Given the description of an element on the screen output the (x, y) to click on. 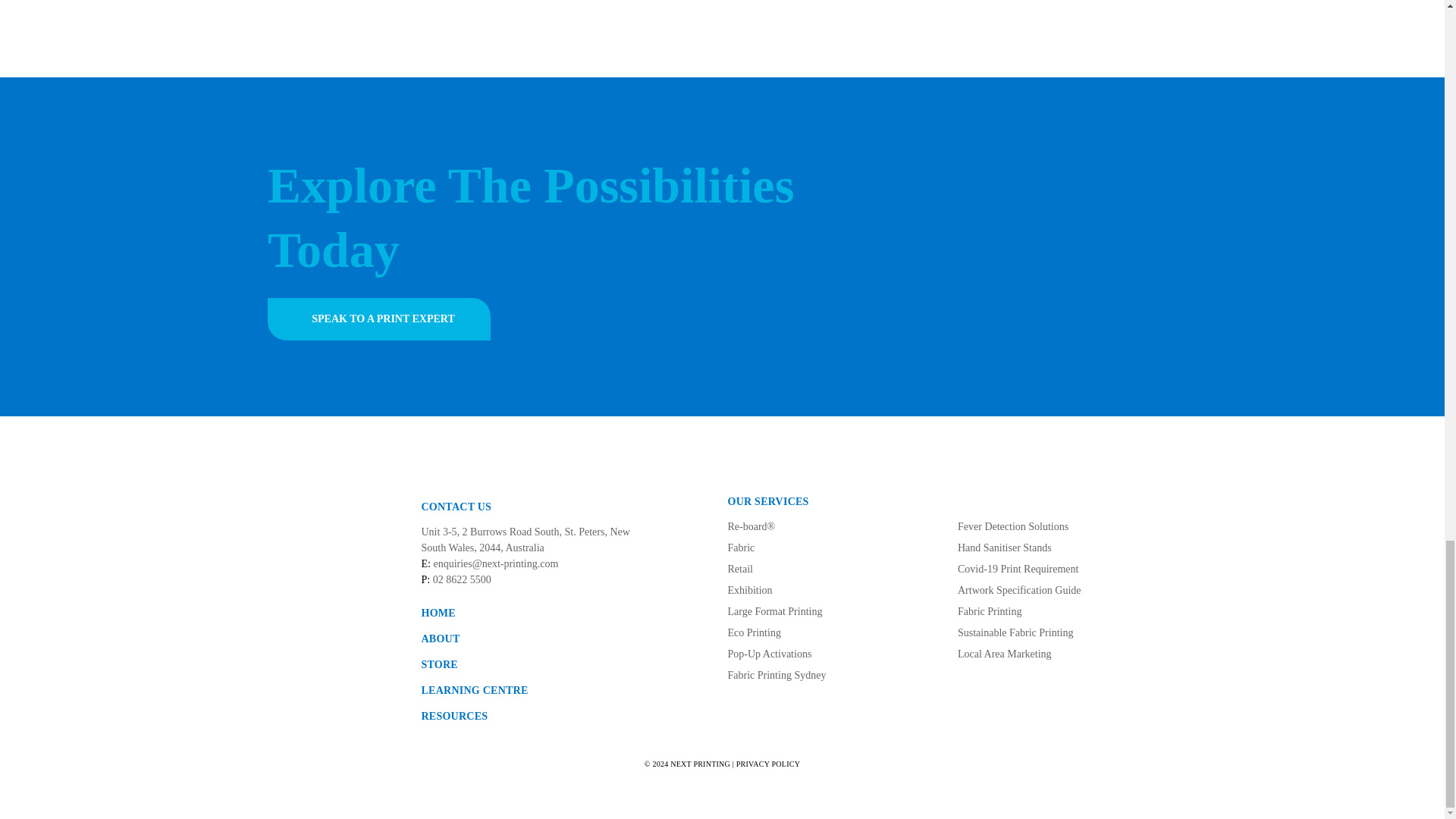
HOME (438, 612)
Retail (740, 569)
CONTACT US (457, 506)
ABOUT (441, 638)
Exhibition (750, 590)
LEARNING CENTRE (475, 690)
RESOURCES (454, 715)
Fabric (741, 547)
Speak to a Print Expert (378, 319)
